Given the description of an element on the screen output the (x, y) to click on. 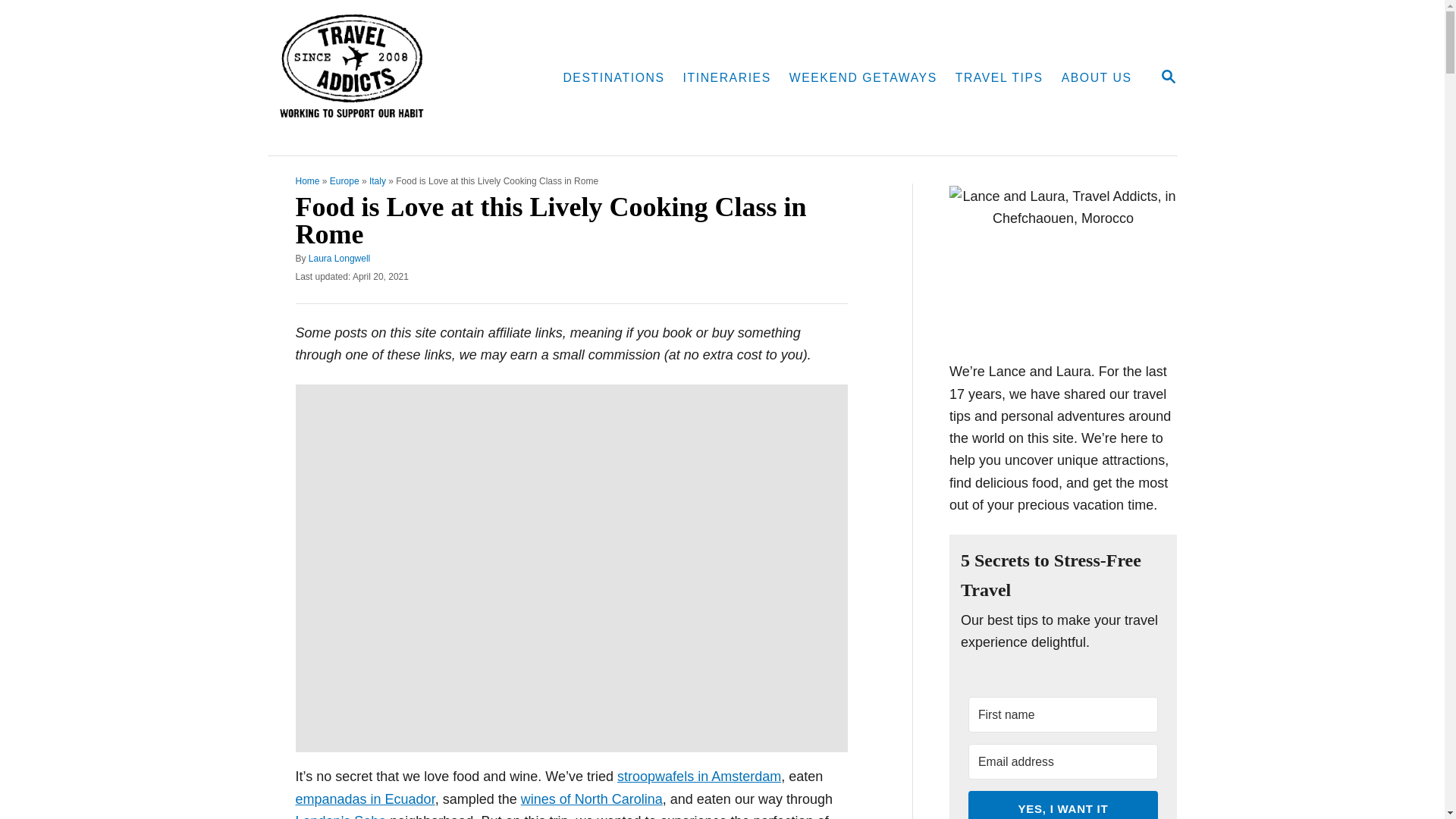
wines of North Carolina (591, 798)
stroopwafels in Amsterdam (698, 776)
ITINERARIES (727, 78)
Italy (377, 181)
empanadas in Ecuador (365, 798)
WEEKEND GETAWAYS (863, 78)
MAGNIFYING GLASS (1167, 76)
Laura Longwell (338, 258)
Home (307, 181)
TRAVEL TIPS (999, 78)
